Given the description of an element on the screen output the (x, y) to click on. 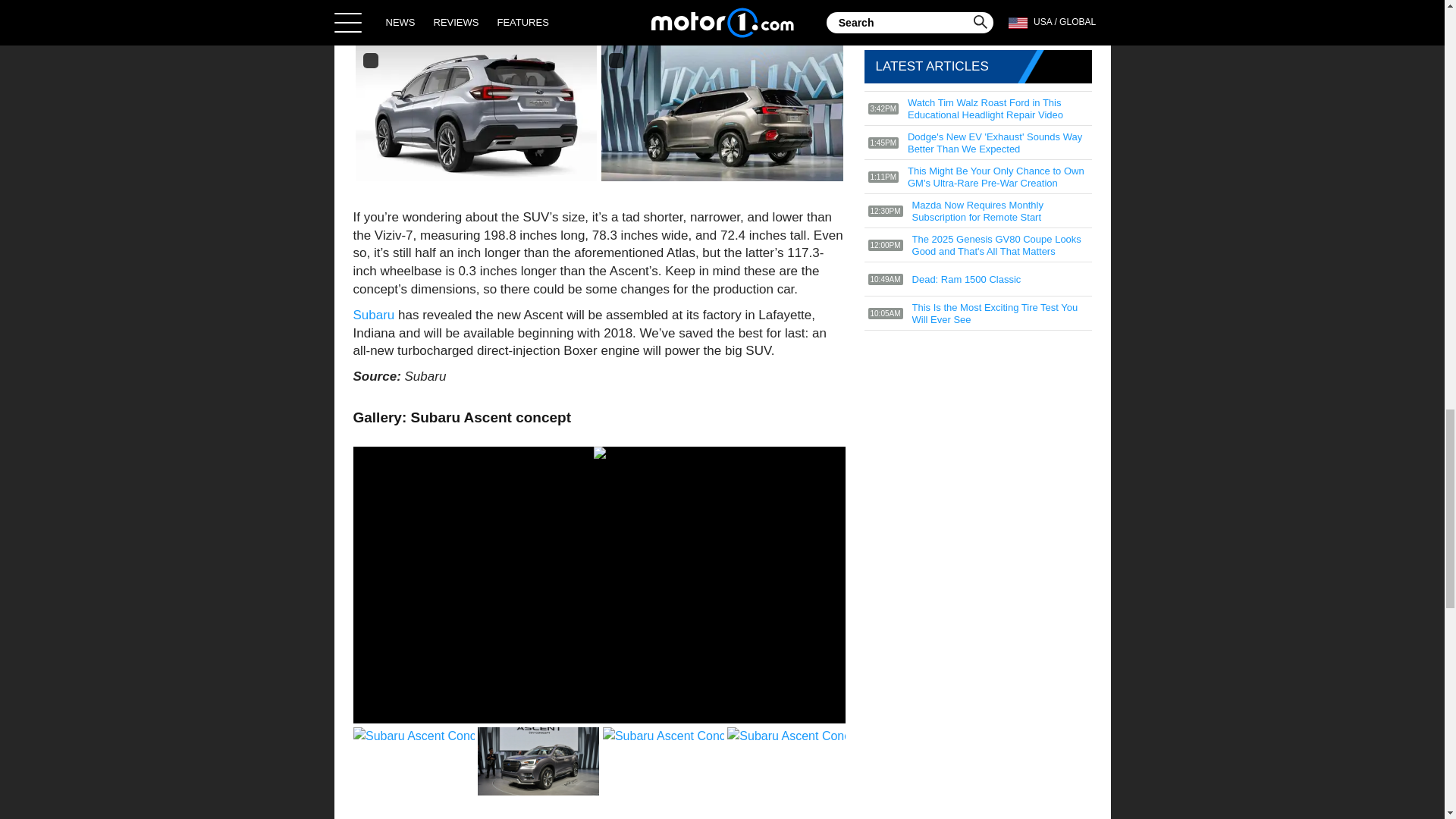
Subaru (373, 314)
